Given the description of an element on the screen output the (x, y) to click on. 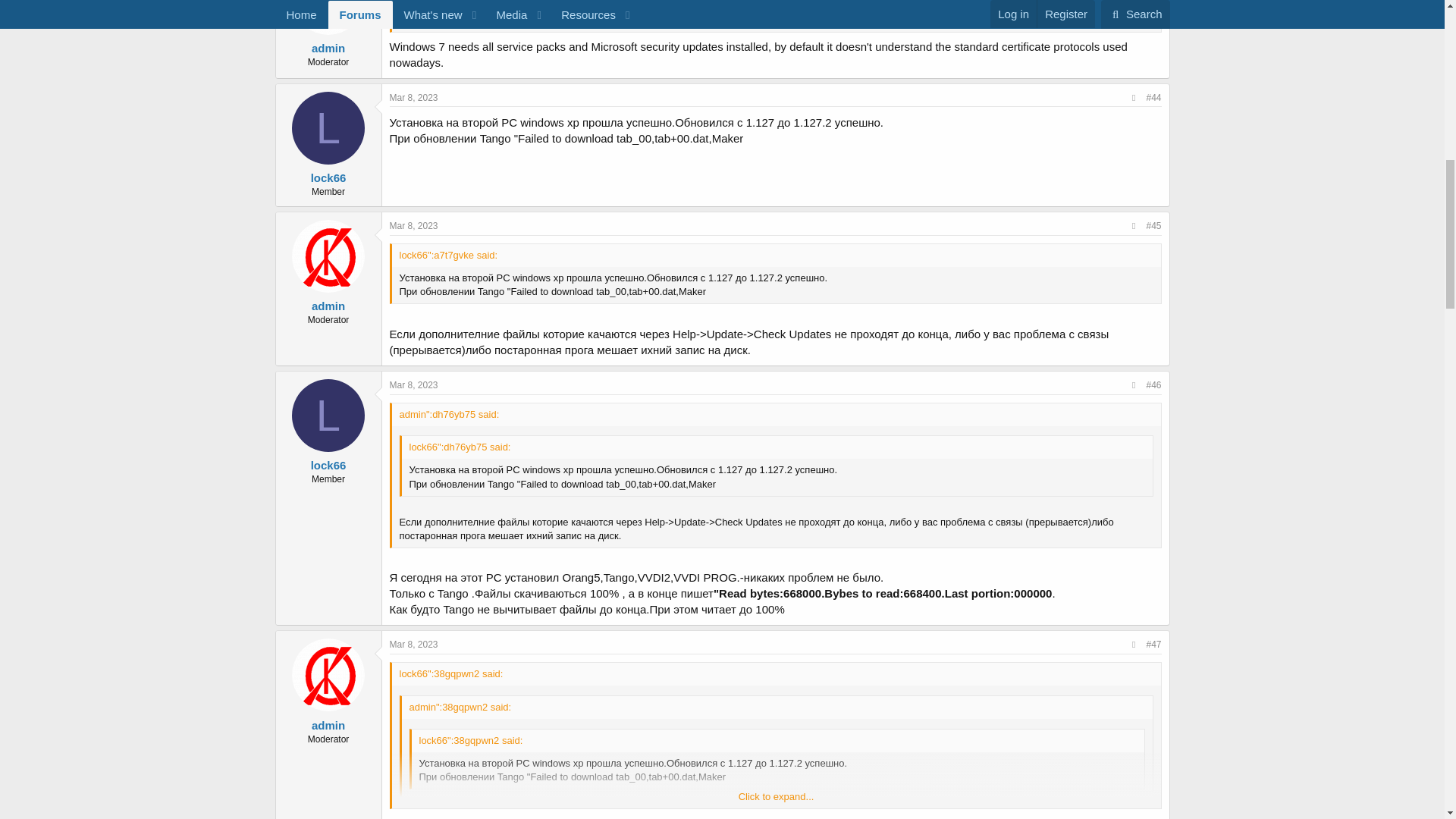
Mar 8, 2023 at 11:51 AM (414, 385)
Mar 8, 2023 at 1:09 PM (414, 644)
Mar 8, 2023 at 9:36 AM (414, 97)
Mar 8, 2023 at 10:43 AM (414, 225)
